Given the description of an element on the screen output the (x, y) to click on. 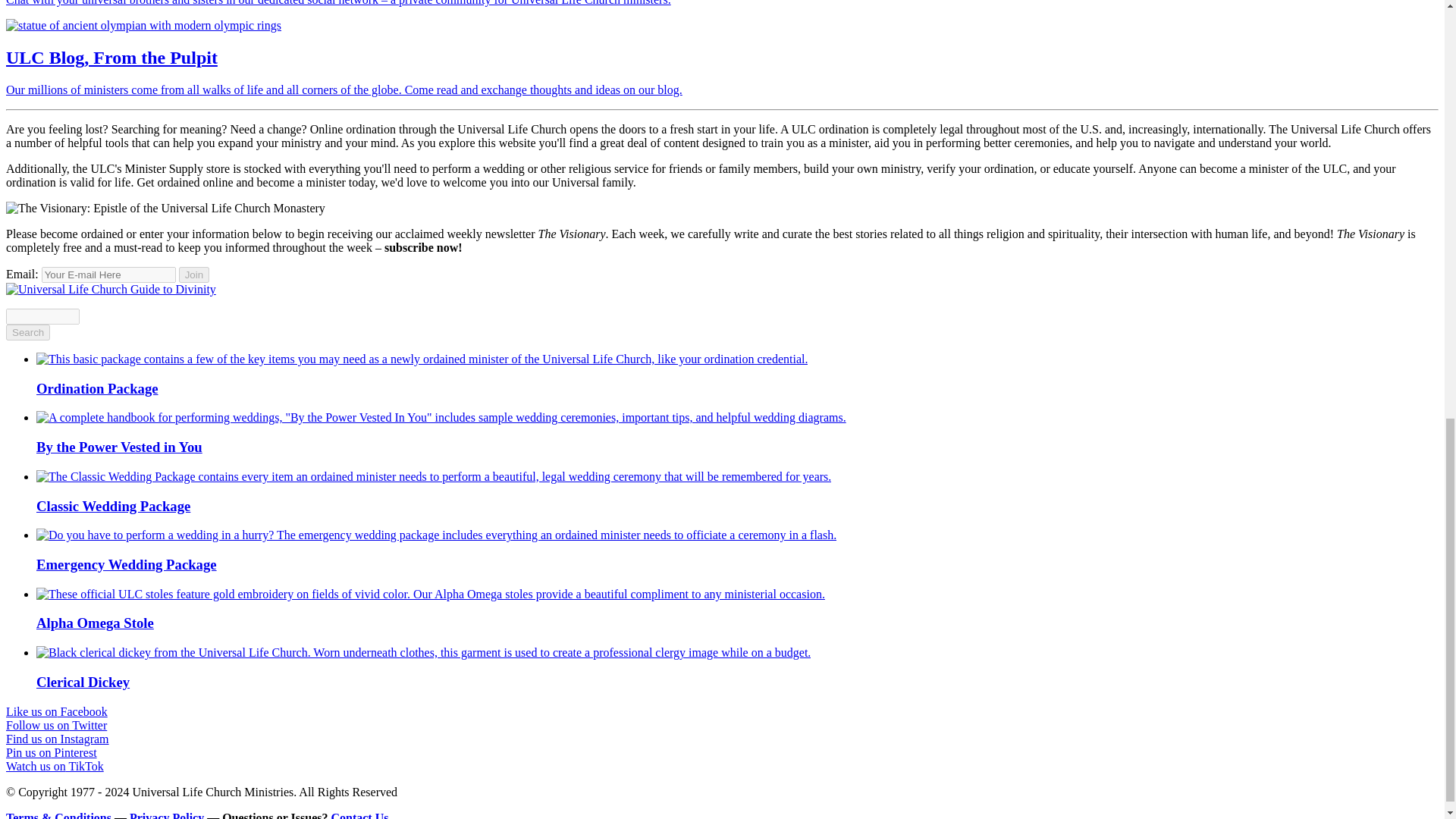
Search (27, 332)
Join (194, 274)
Join (194, 274)
Search (27, 332)
Universal Life Church Guide to Divinity (110, 288)
Search (27, 332)
